Given the description of an element on the screen output the (x, y) to click on. 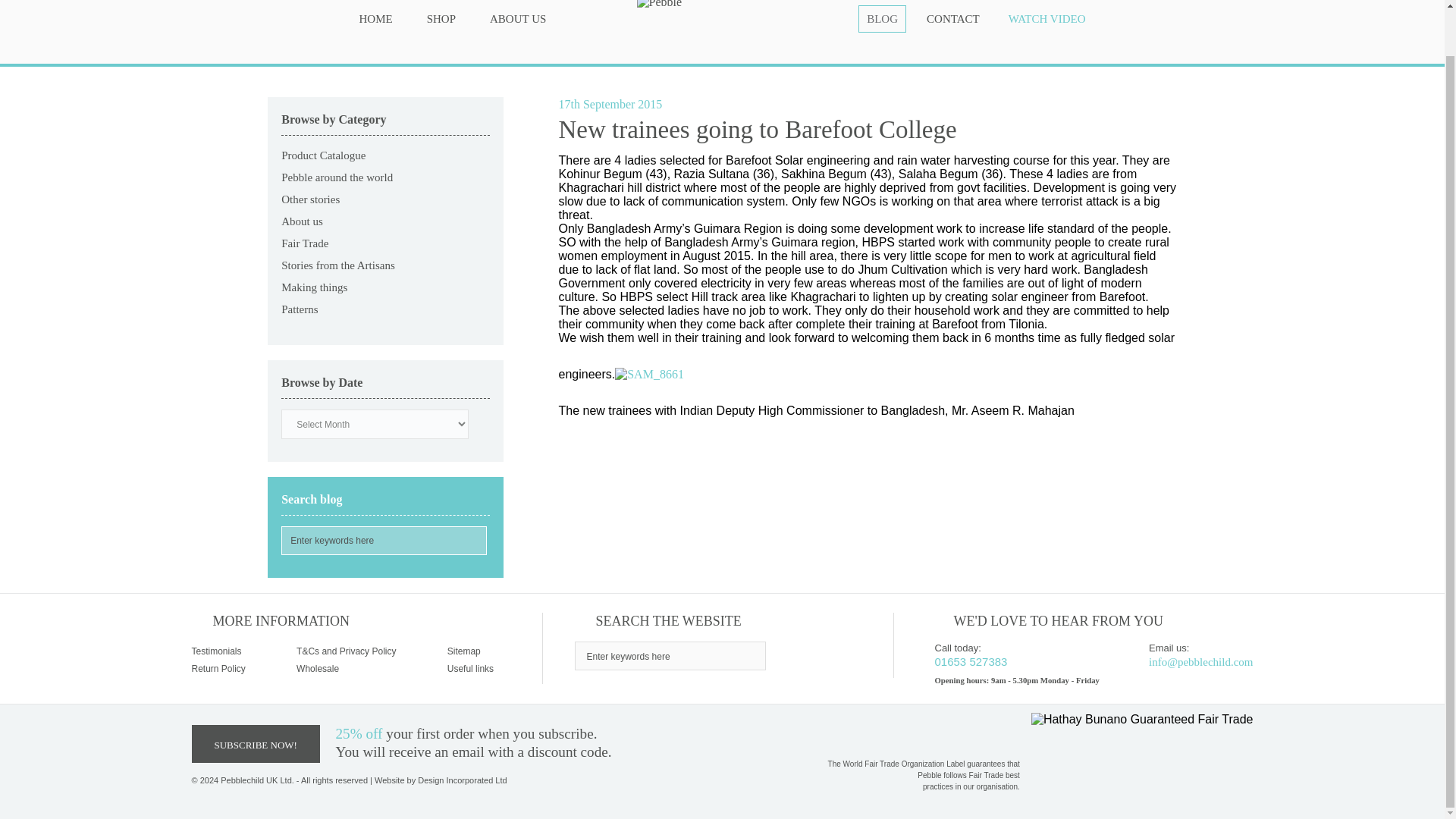
Stories from the Artisans (337, 265)
Return Policy (217, 668)
SHOP (441, 18)
ABOUT US (517, 18)
Enter keywords here (383, 540)
Testimonials (215, 651)
Useful links (469, 668)
Enter keywords here (670, 655)
Product Catalogue (323, 155)
Sitemap (463, 651)
SUBSCRIBE NOW! (254, 743)
Making things (314, 287)
WATCH VIDEO (1047, 18)
Patterns (299, 309)
Wholesale (318, 668)
